Given the description of an element on the screen output the (x, y) to click on. 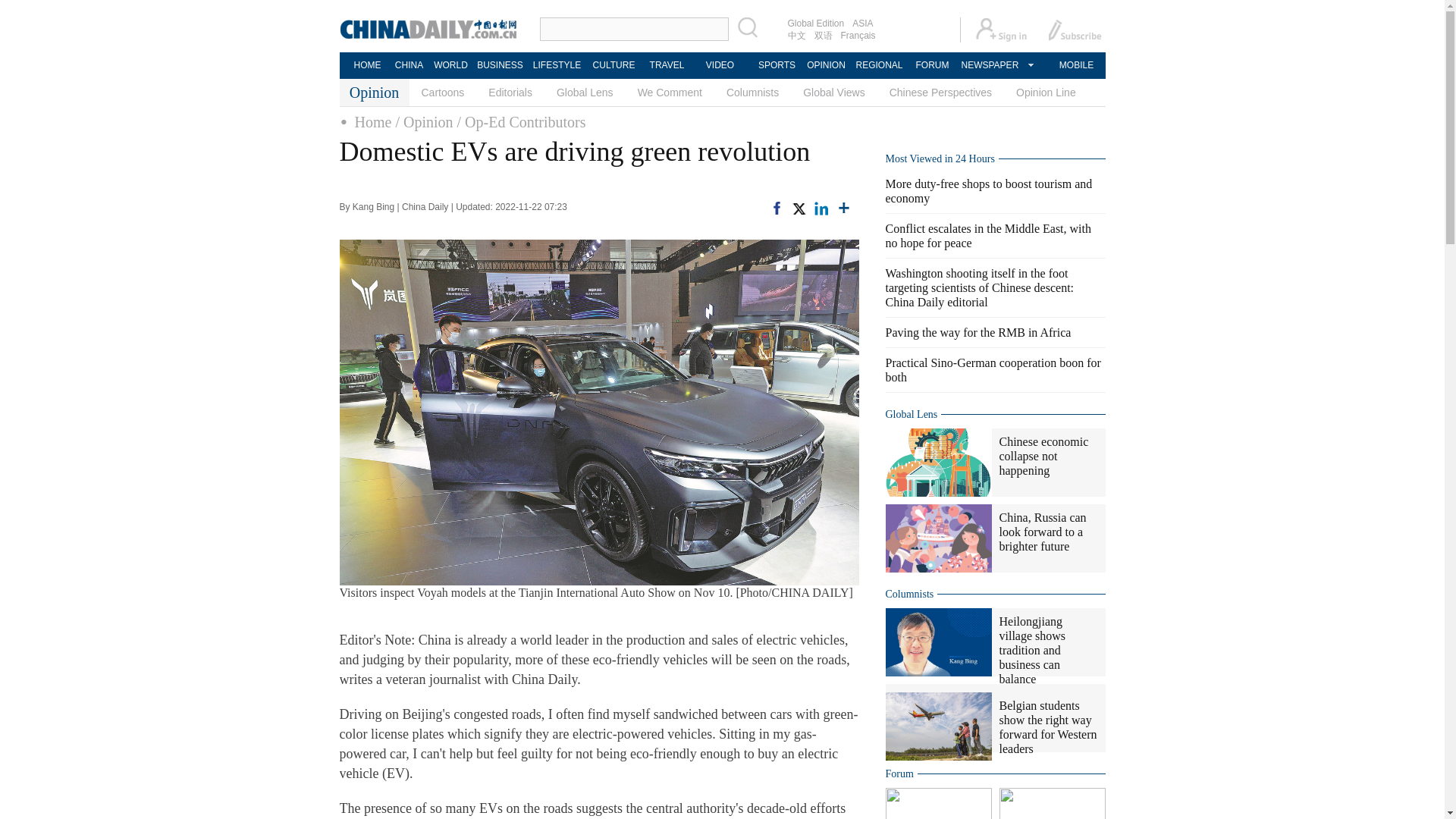
NEWSPAPER (988, 65)
VIDEO (719, 65)
SPORTS (777, 65)
CHINA (408, 65)
LIFESTYLE (557, 65)
FORUM (931, 65)
Global Edition (816, 23)
REGIONAL (878, 65)
HOME (367, 65)
TRAVEL (666, 65)
